Given the description of an element on the screen output the (x, y) to click on. 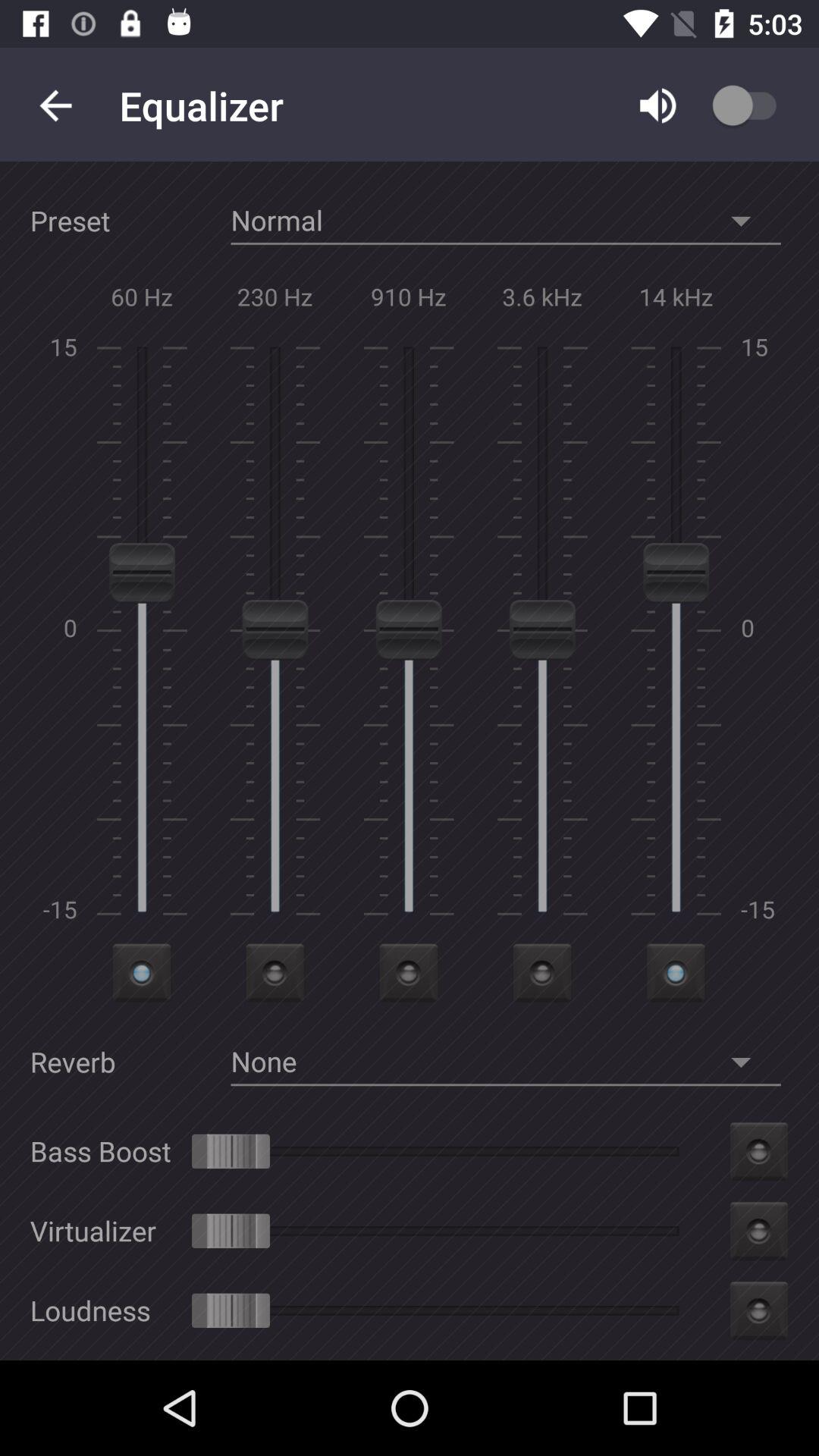
click on the first frequency icon (141, 973)
select the option none beside reverb (505, 1062)
go to the icon next to volume button (762, 105)
click on the button next to bass boost (758, 1150)
click on the second icon from the bottom right of the page (758, 1230)
